Given the description of an element on the screen output the (x, y) to click on. 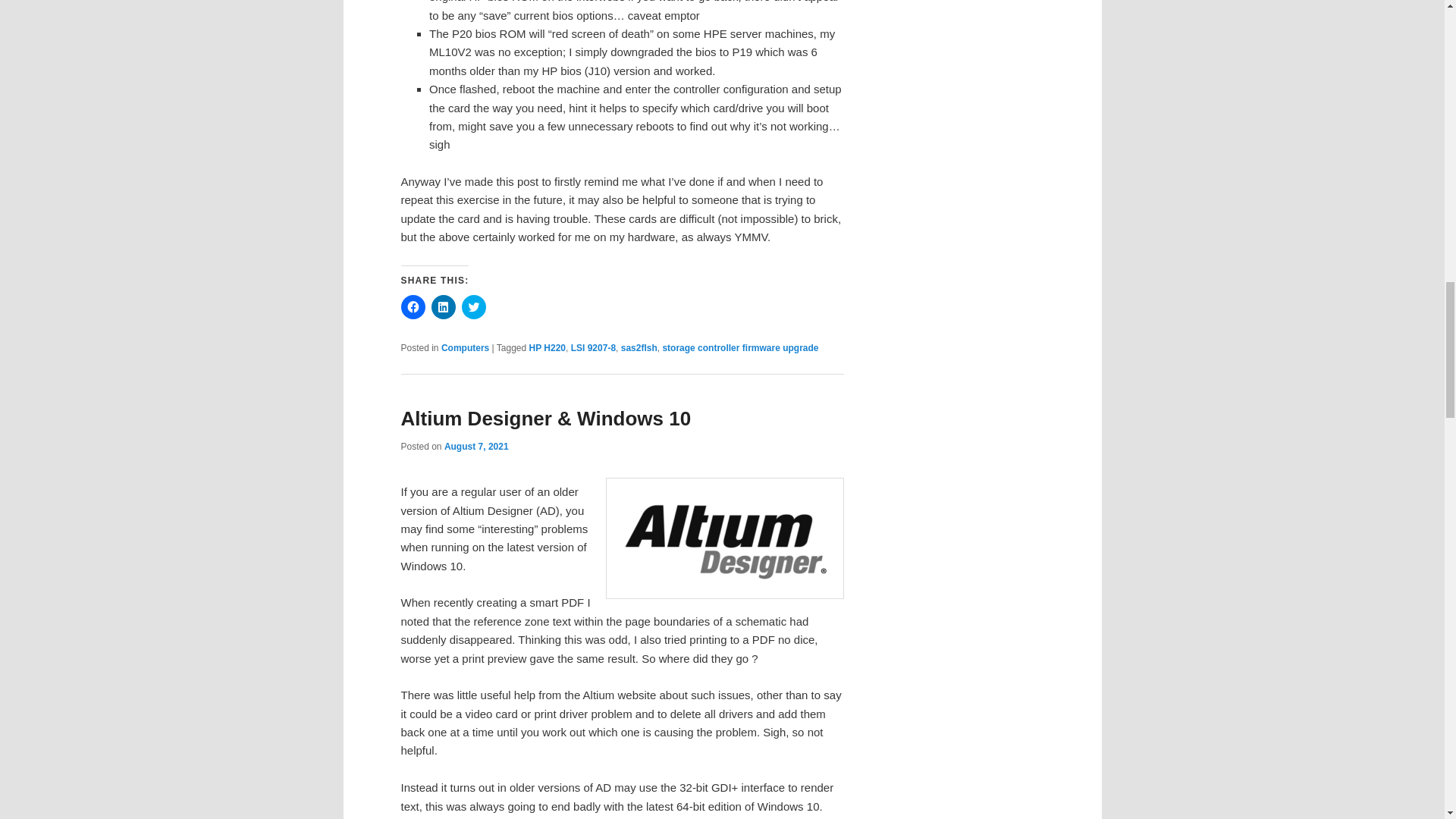
Computers (465, 347)
HP H220 (547, 347)
Click to share on Facebook (412, 306)
sas2flsh (639, 347)
LSI 9207-8 (592, 347)
storage controller firmware upgrade (740, 347)
Click to share on LinkedIn (442, 306)
12:35 pm (476, 446)
August 7, 2021 (476, 446)
Click to share on Twitter (472, 306)
